Given the description of an element on the screen output the (x, y) to click on. 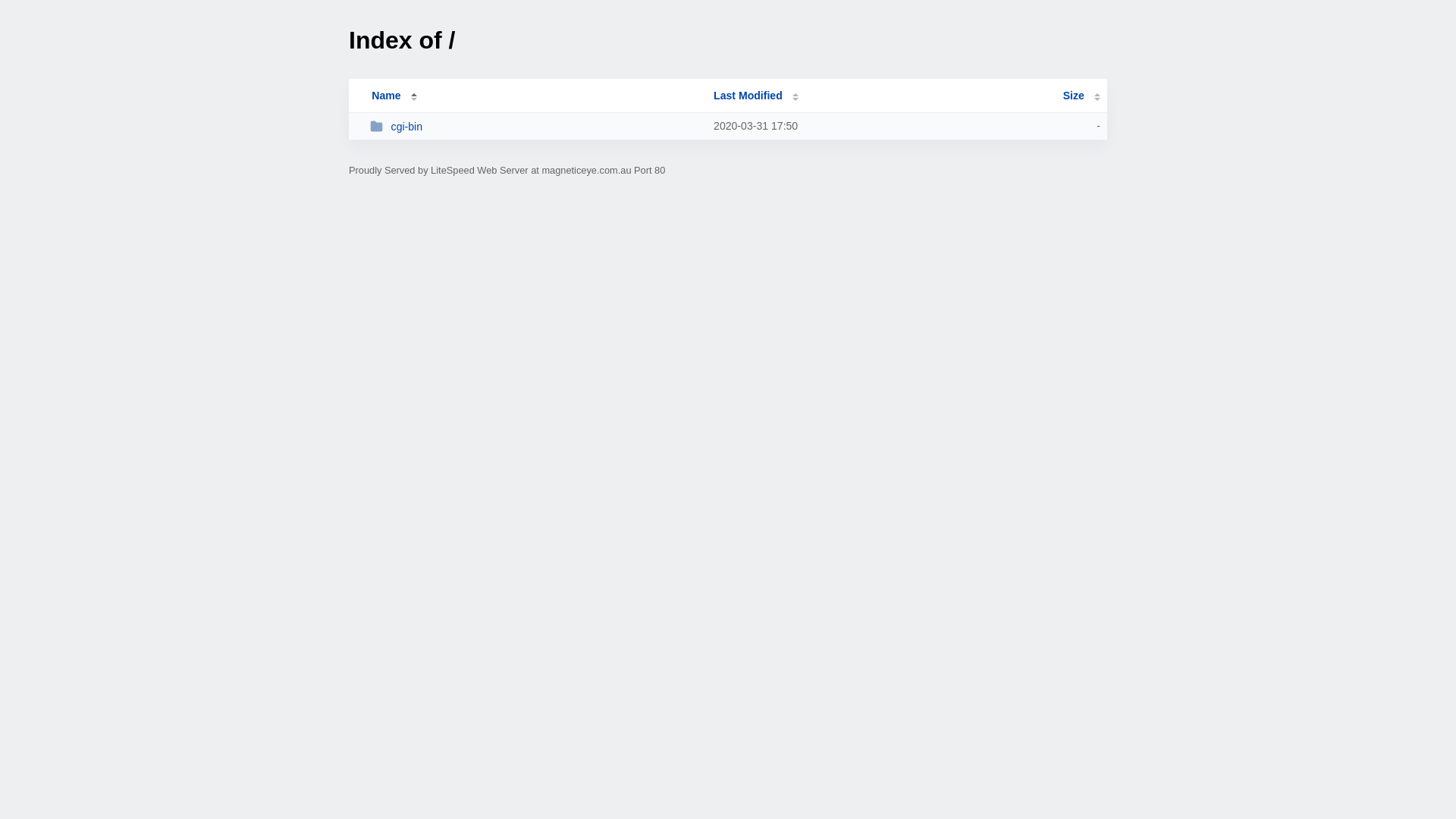
Name Element type: text (385, 95)
Last Modified Element type: text (755, 95)
Size Element type: text (1081, 95)
cgi-bin Element type: text (534, 125)
